Given the description of an element on the screen output the (x, y) to click on. 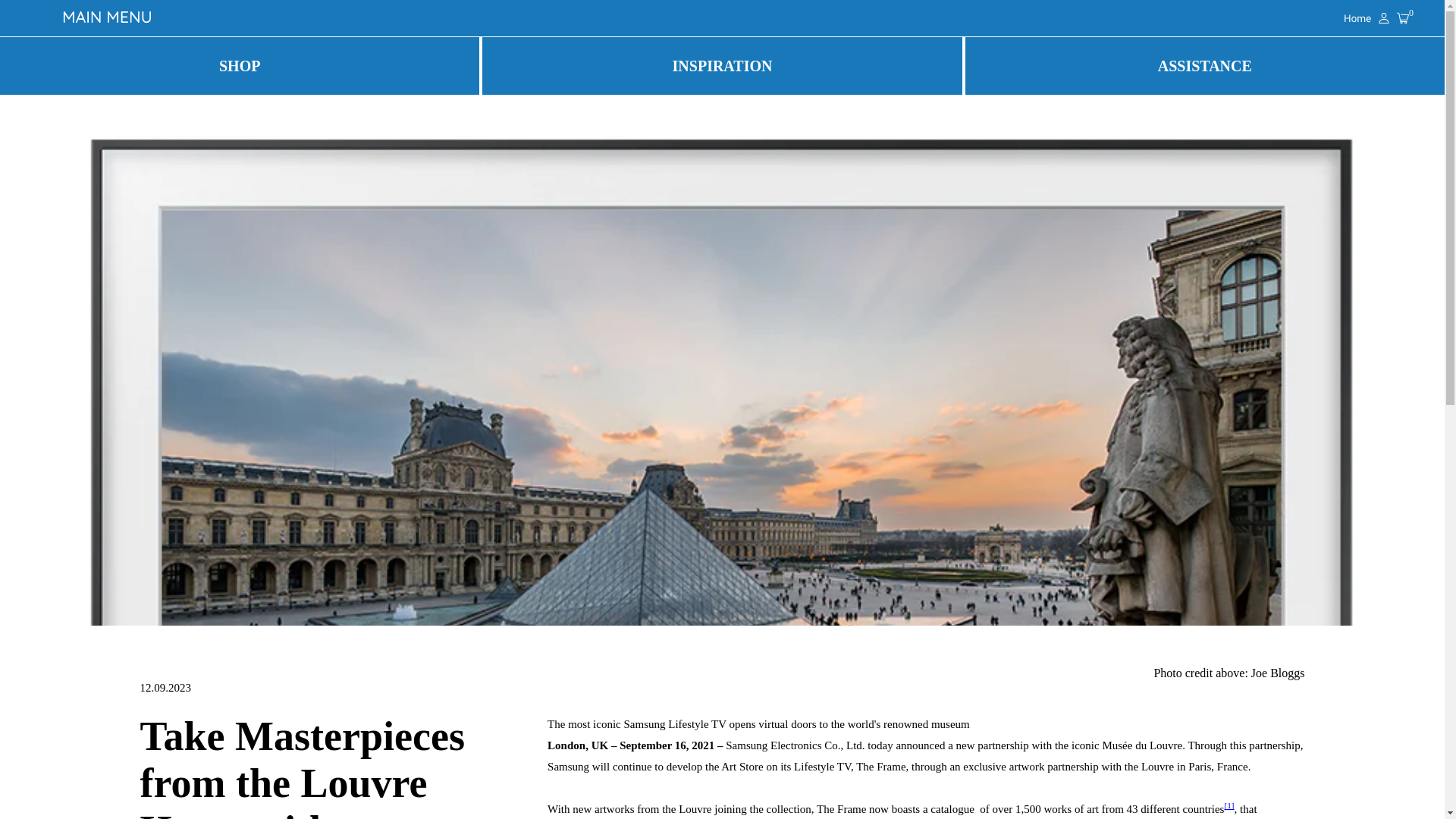
SHOP (239, 65)
INSPIRATION (720, 65)
